Given the description of an element on the screen output the (x, y) to click on. 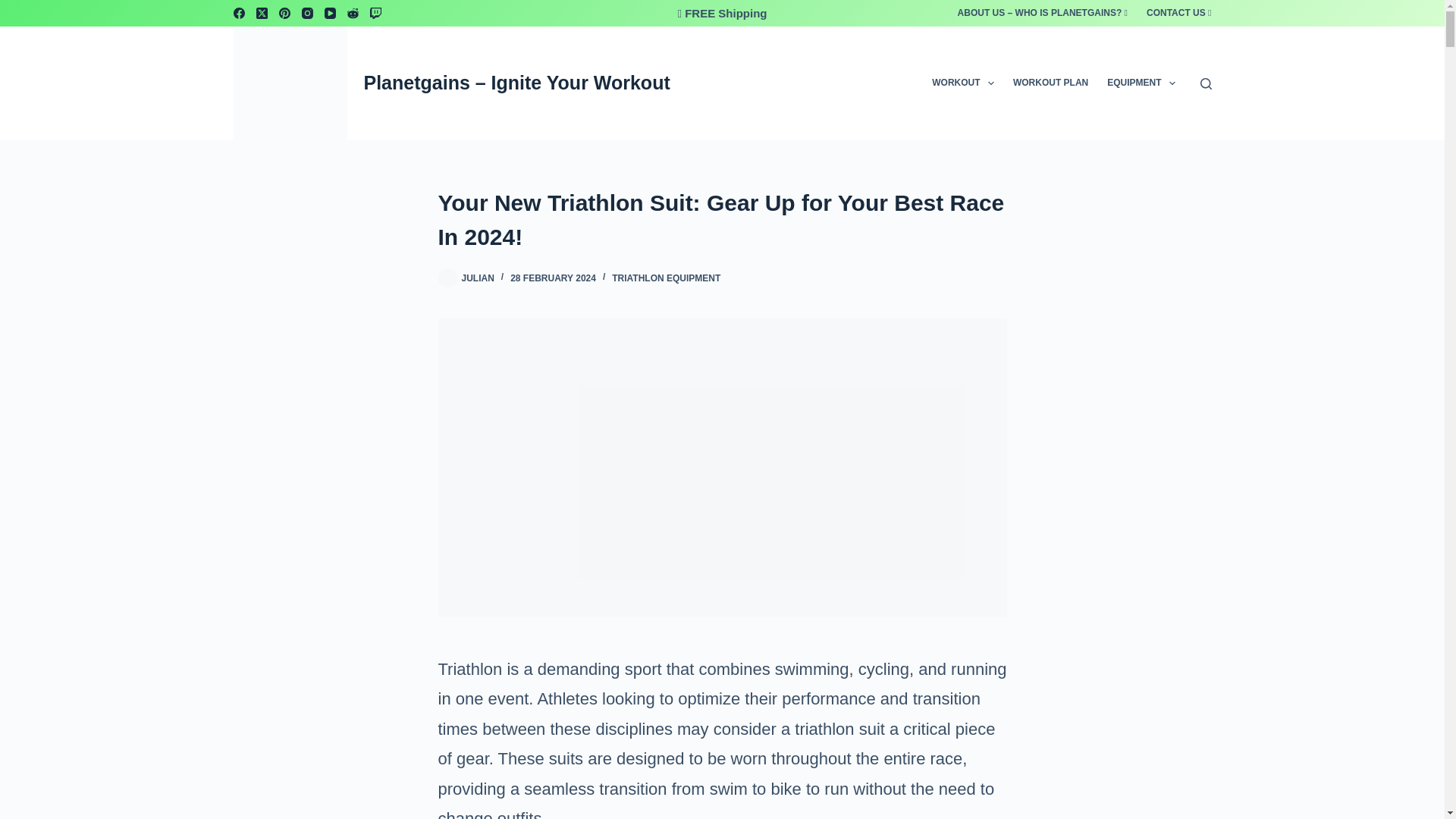
Posts by Julian (477, 277)
Your New Triathlon Suit: Gear Up for Your Best Race In 2024! (722, 219)
Skip to content (15, 7)
